Given the description of an element on the screen output the (x, y) to click on. 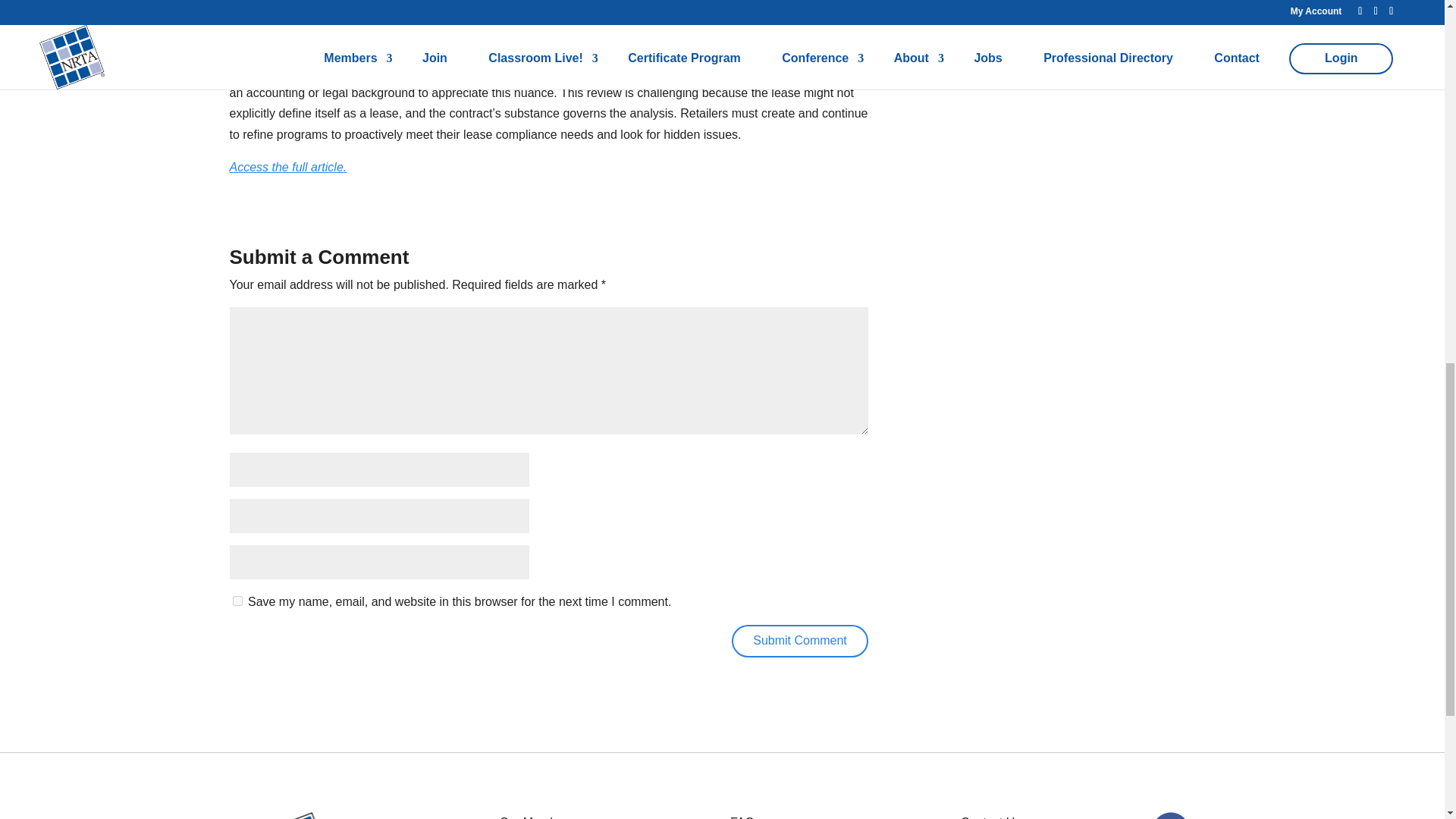
Submit Comment (799, 640)
yes (236, 601)
